Given the description of an element on the screen output the (x, y) to click on. 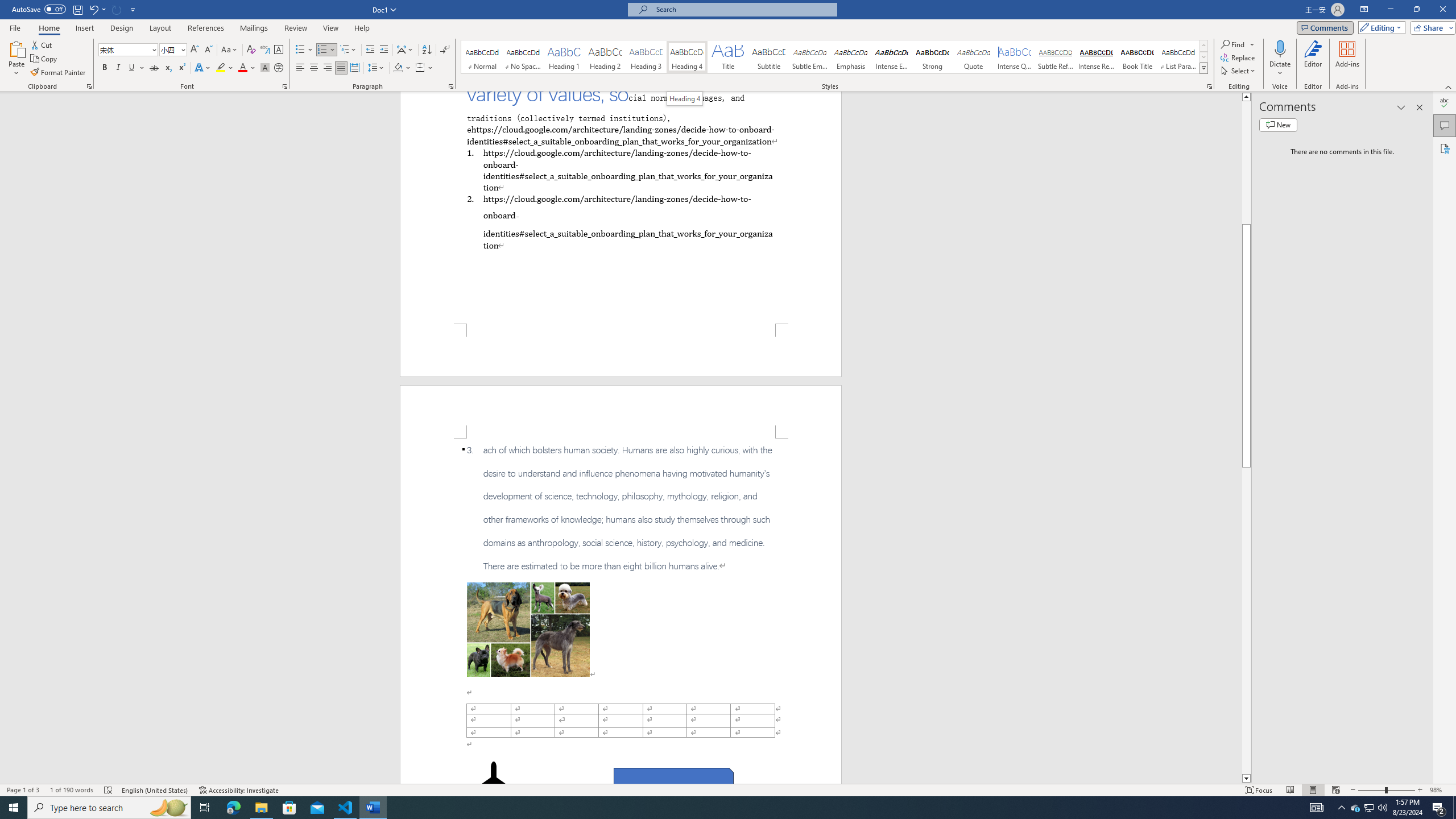
Strikethrough (154, 67)
Styles... (1209, 85)
Strong (932, 56)
Language English (United States) (154, 790)
Heading 1 (564, 56)
Emphasis (849, 56)
Home (48, 28)
Task Pane Options (1400, 107)
Quote (973, 56)
Class: MsoCommandBar (728, 789)
Editor (1444, 102)
Line down (1245, 778)
Align Right (327, 67)
Asian Layout (405, 49)
